Given the description of an element on the screen output the (x, y) to click on. 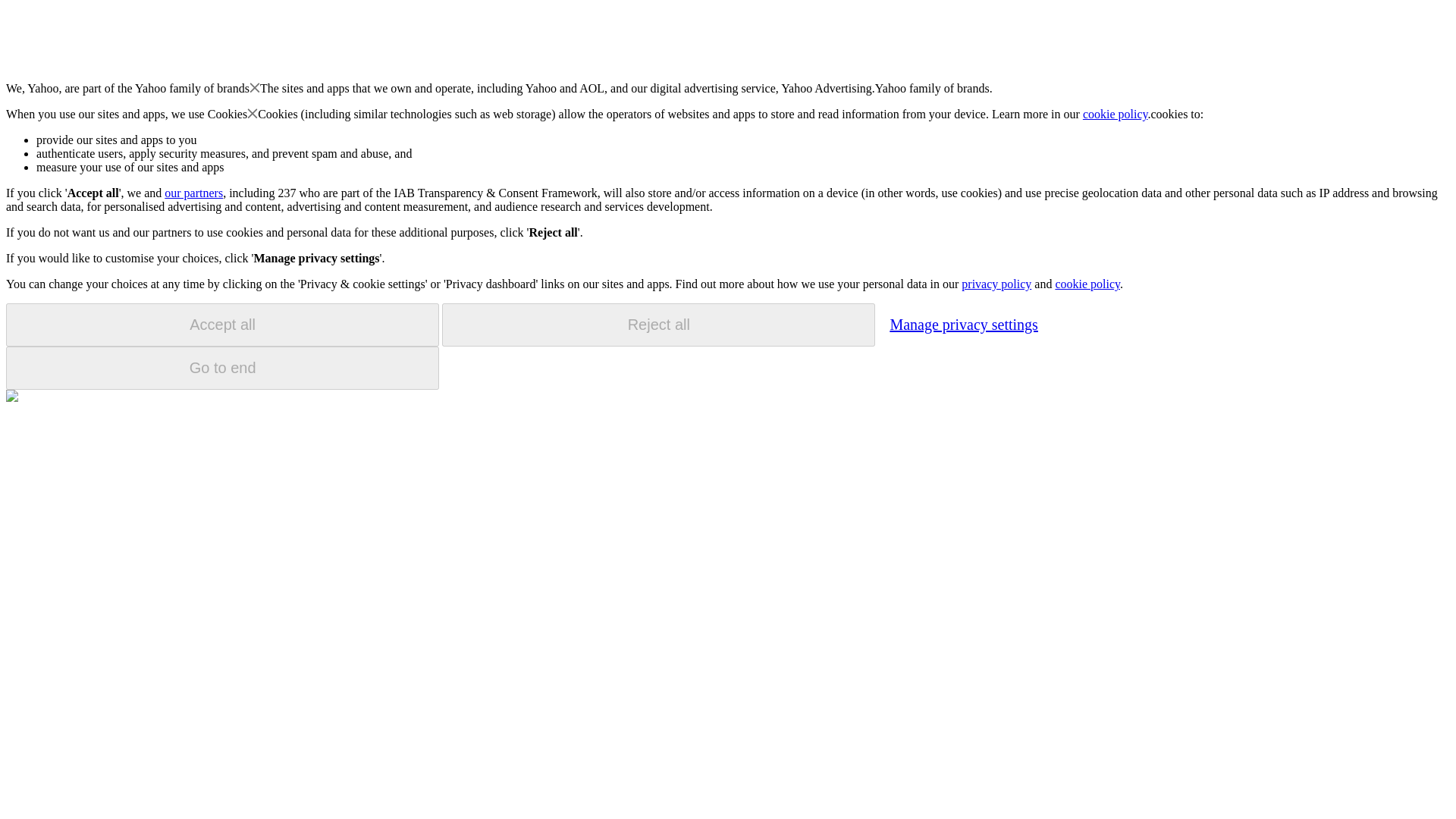
cookie policy (1115, 113)
Accept all (222, 324)
Reject all (658, 324)
Manage privacy settings (963, 323)
Go to end (222, 367)
privacy policy (995, 283)
our partners (193, 192)
cookie policy (1086, 283)
